Given the description of an element on the screen output the (x, y) to click on. 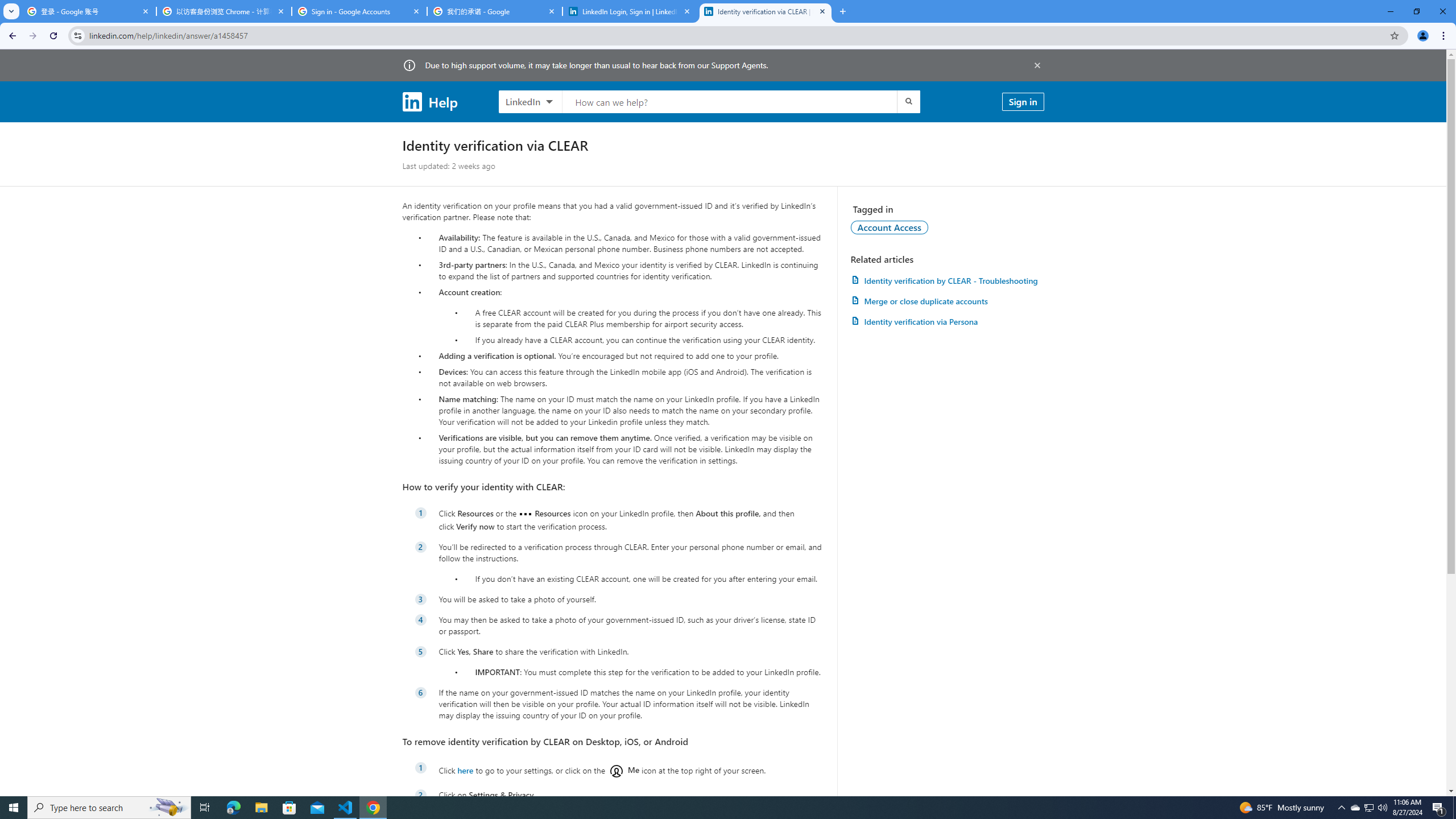
Identity verification by CLEAR - Troubleshooting (946, 280)
